Given the description of an element on the screen output the (x, y) to click on. 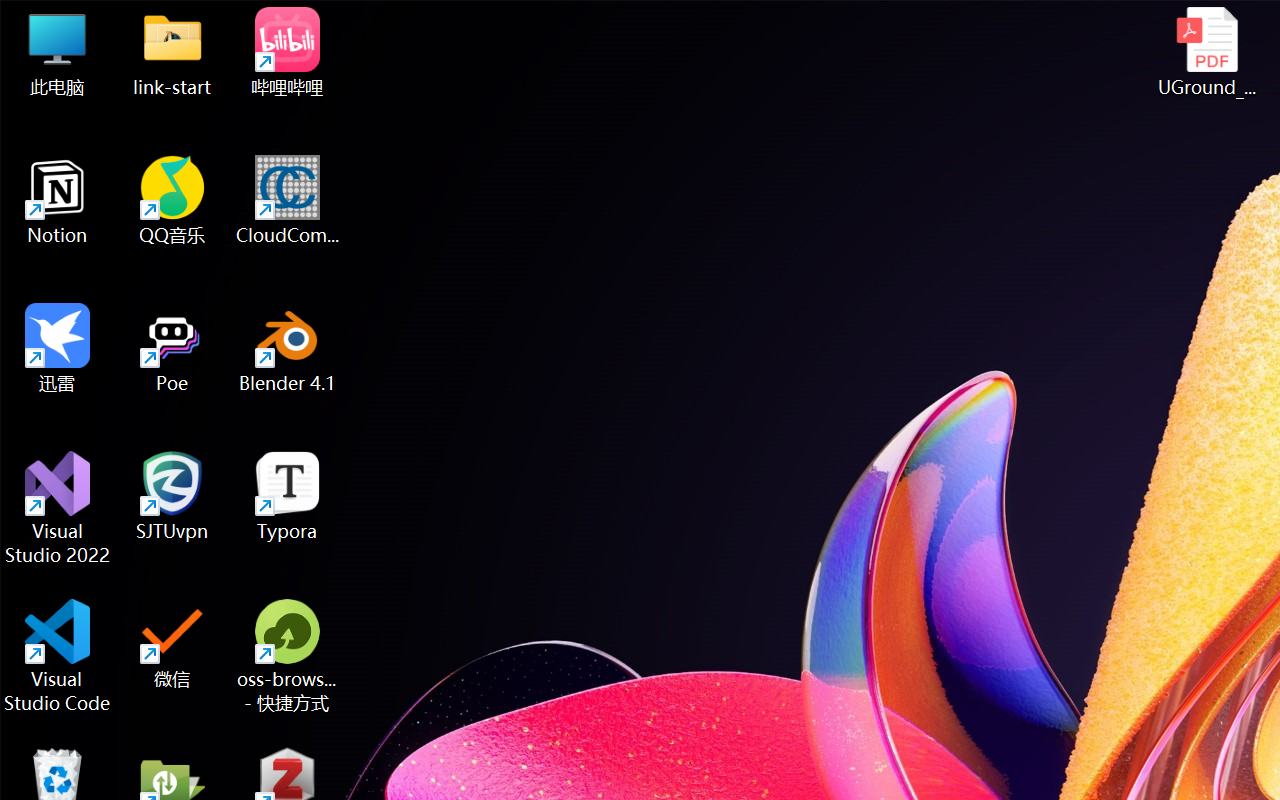
Blender 4.1 (287, 348)
CloudCompare (287, 200)
UGround_paper.pdf (1206, 52)
Typora (287, 496)
Visual Studio Code (57, 656)
Visual Studio 2022 (57, 508)
SJTUvpn (172, 496)
